Given the description of an element on the screen output the (x, y) to click on. 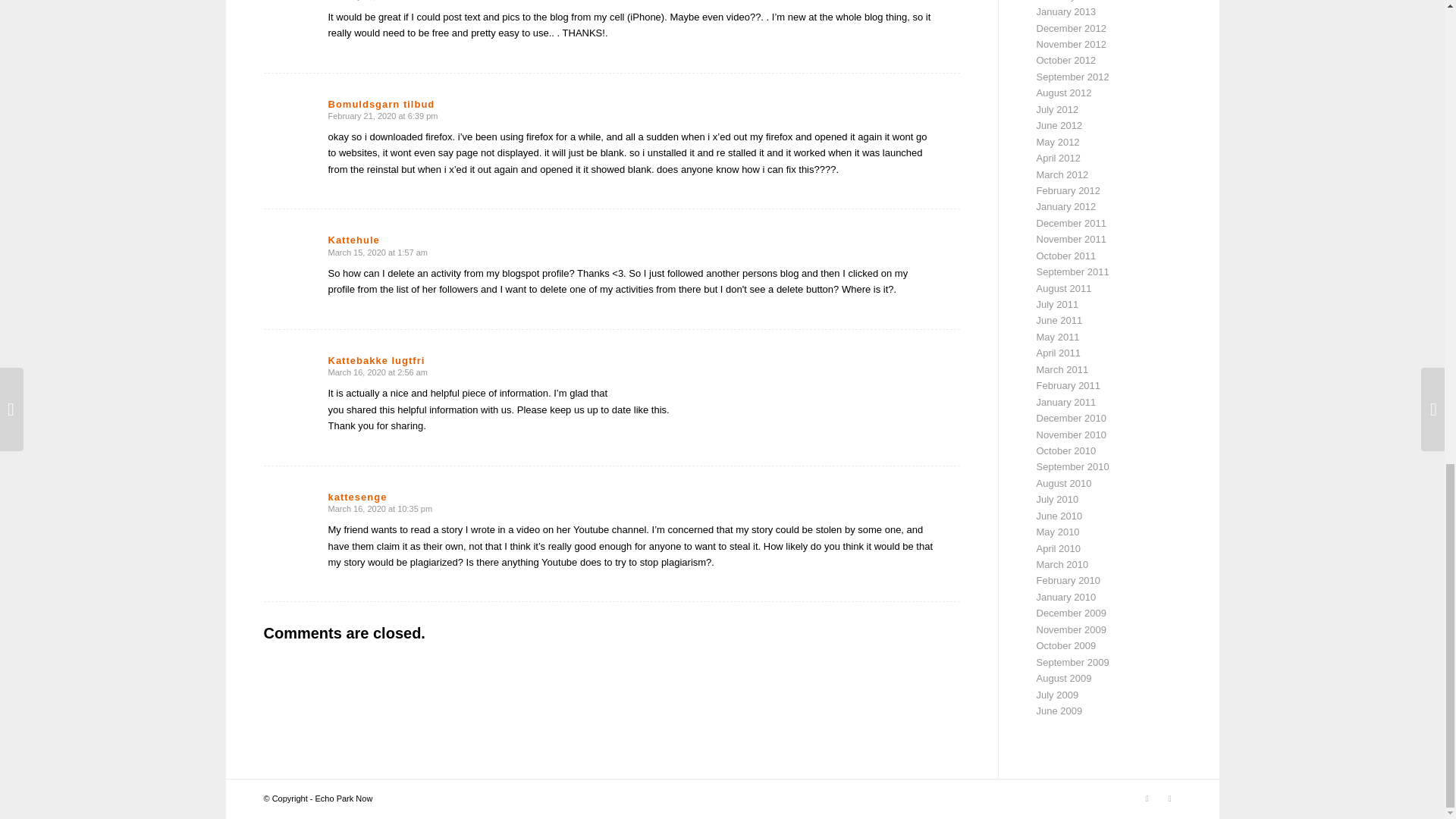
March 16, 2020 at 10:35 pm (379, 508)
March 15, 2020 at 1:57 am (376, 252)
kattesenge (357, 496)
Kattebakke lugtfri (376, 360)
Bomuldsgarn tilbud (380, 103)
March 16, 2020 at 2:56 am (376, 371)
February 21, 2020 at 6:39 pm (382, 115)
Kattehule (352, 239)
